Given the description of an element on the screen output the (x, y) to click on. 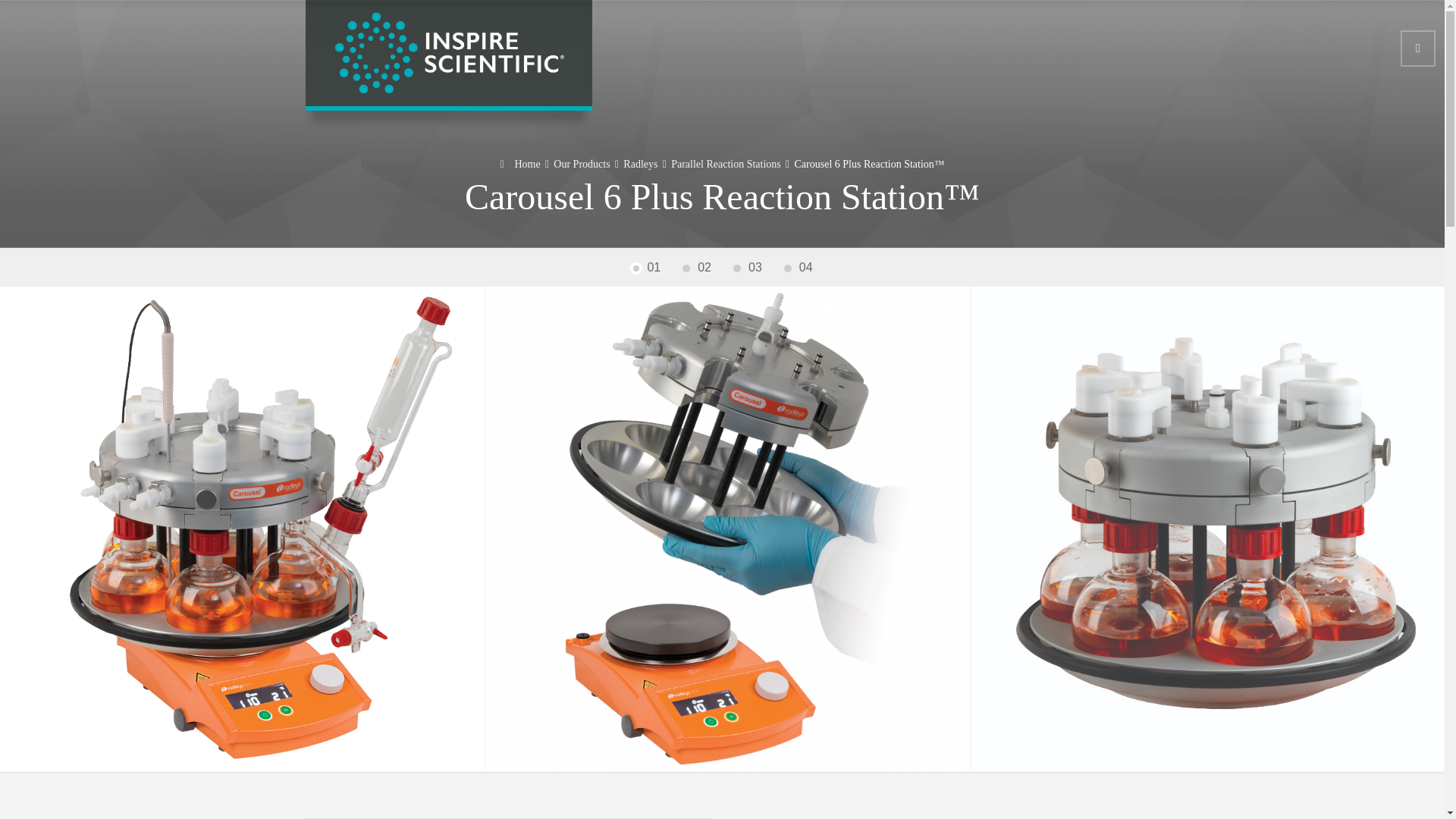
Home (519, 163)
Search (1418, 47)
Inspire Scientific Co., Ltd. (448, 53)
Our Products (581, 163)
Parallel Reaction Stations (725, 163)
Radleys (640, 163)
